Given the description of an element on the screen output the (x, y) to click on. 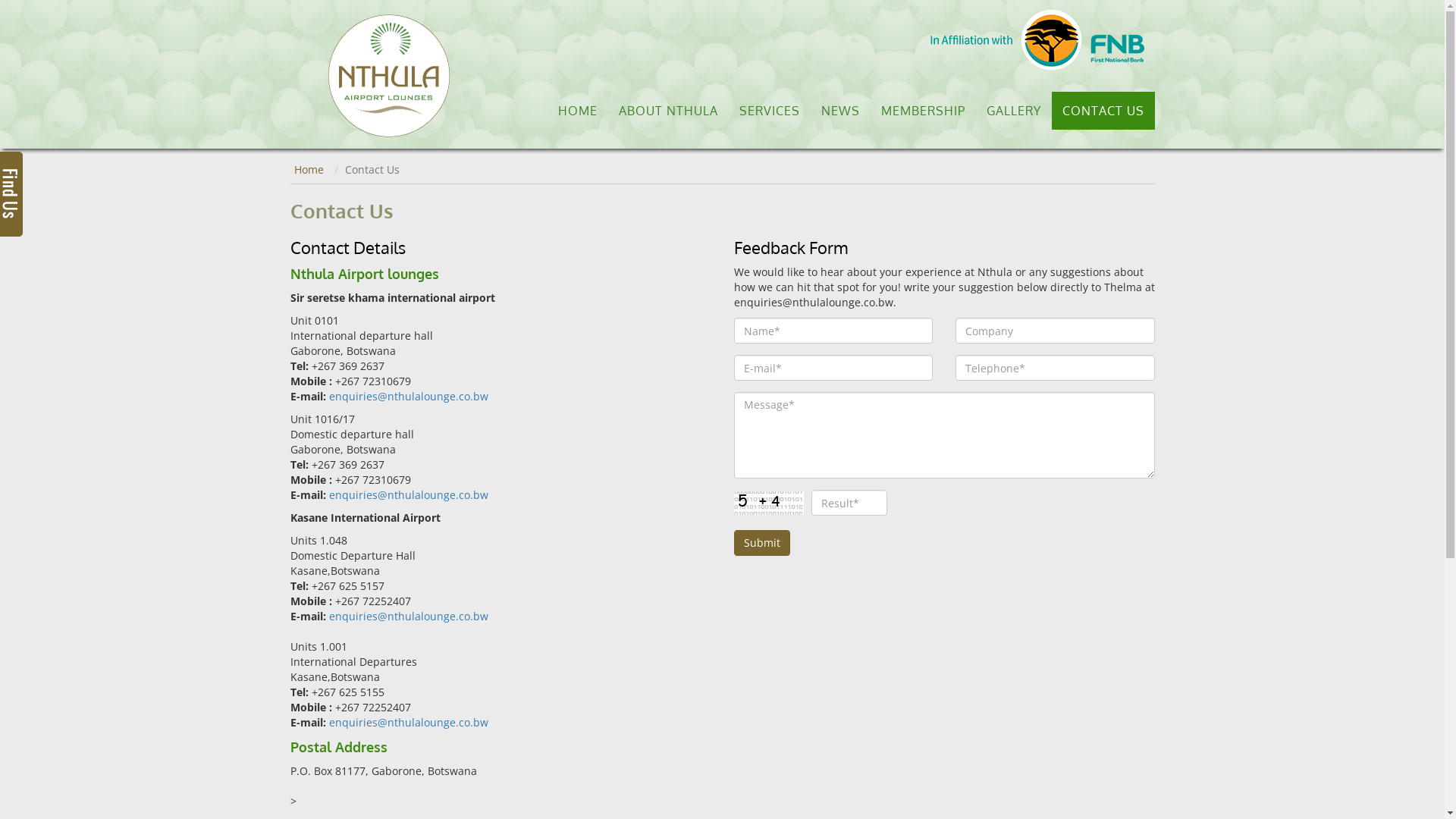
Submit Element type: text (762, 542)
NEWS Element type: text (839, 110)
enquiries@nthulalounge.co.bw Element type: text (408, 722)
HOME Element type: text (577, 110)
enquiries@nthulalounge.co.bw Element type: text (408, 494)
enquiries@nthulalounge.co.bw Element type: text (408, 396)
ABOUT NTHULA Element type: text (668, 110)
SERVICES Element type: text (768, 110)
enquiries@nthulalounge.co.bw Element type: text (408, 615)
GALLERY Element type: text (1013, 110)
MEMBERSHIP Element type: text (922, 110)
CONTACT US Element type: text (1102, 110)
Home Element type: text (308, 169)
